Given the description of an element on the screen output the (x, y) to click on. 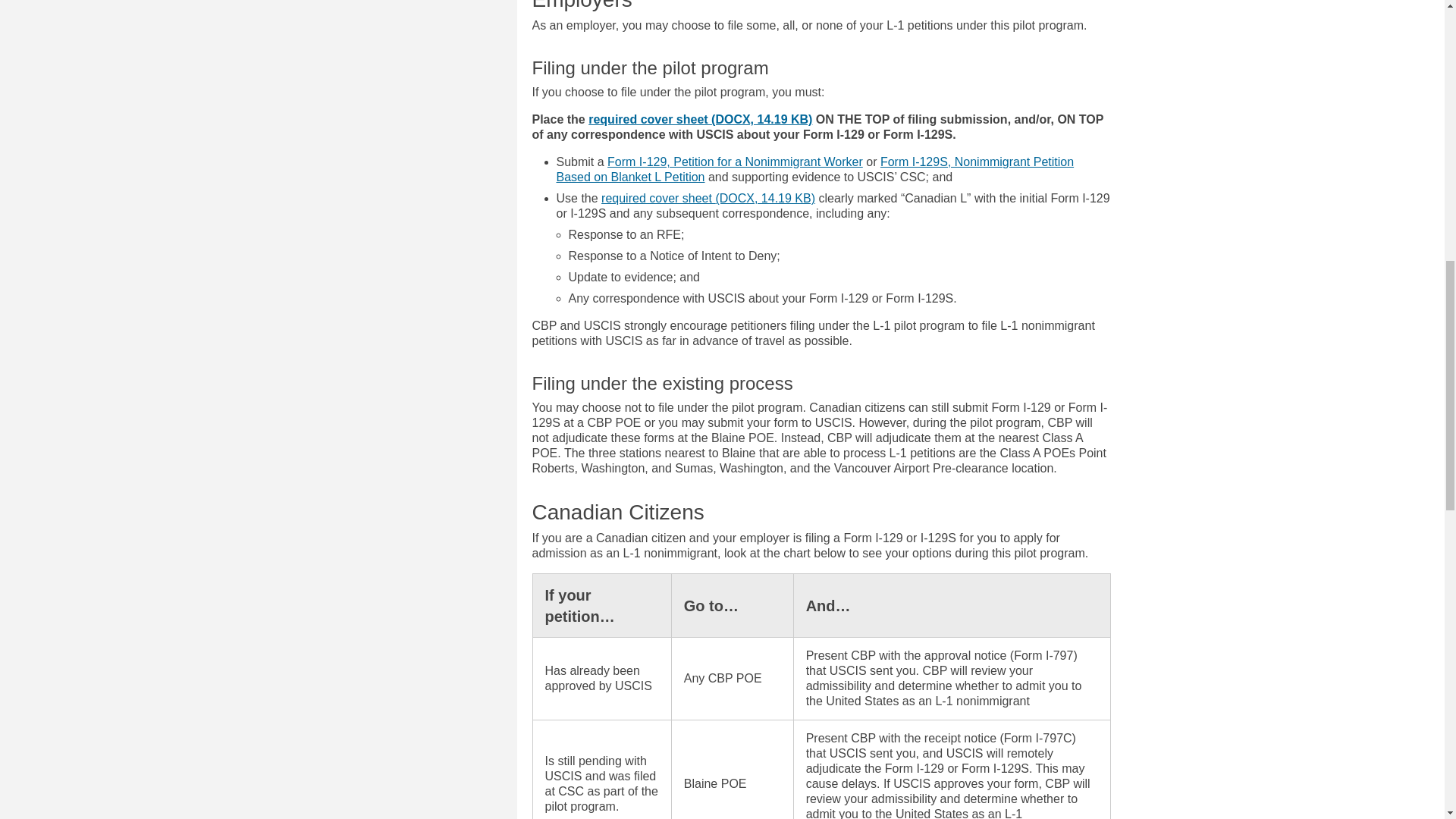
Form I-129, Petition for a Nonimmigrant Worker (735, 161)
